Given the description of an element on the screen output the (x, y) to click on. 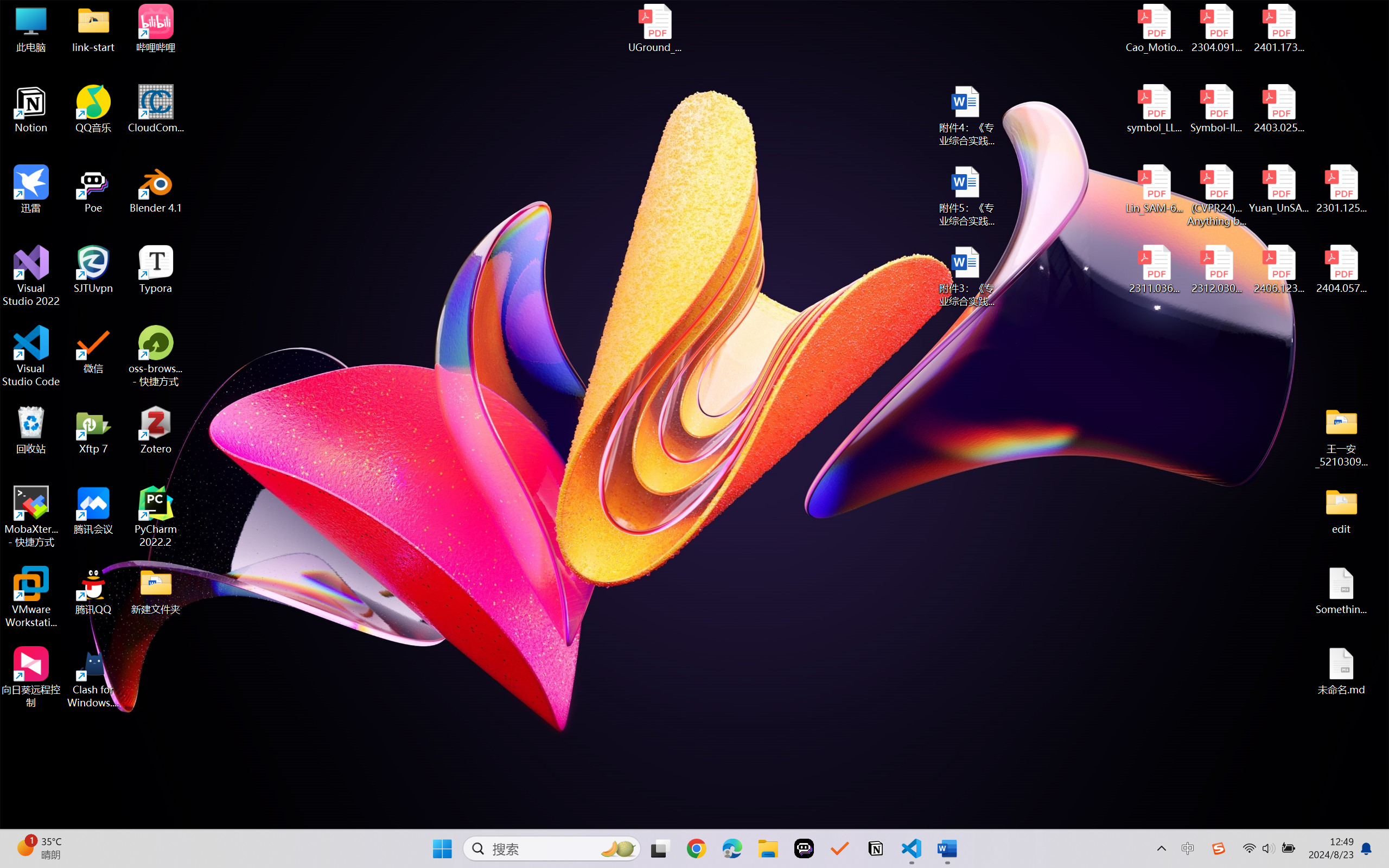
Symbol-llm-v2.pdf (1216, 109)
2311.03658v2.pdf (1154, 269)
UGround_paper.pdf (654, 28)
edit (1340, 510)
VMware Workstation Pro (31, 597)
